Given the description of an element on the screen output the (x, y) to click on. 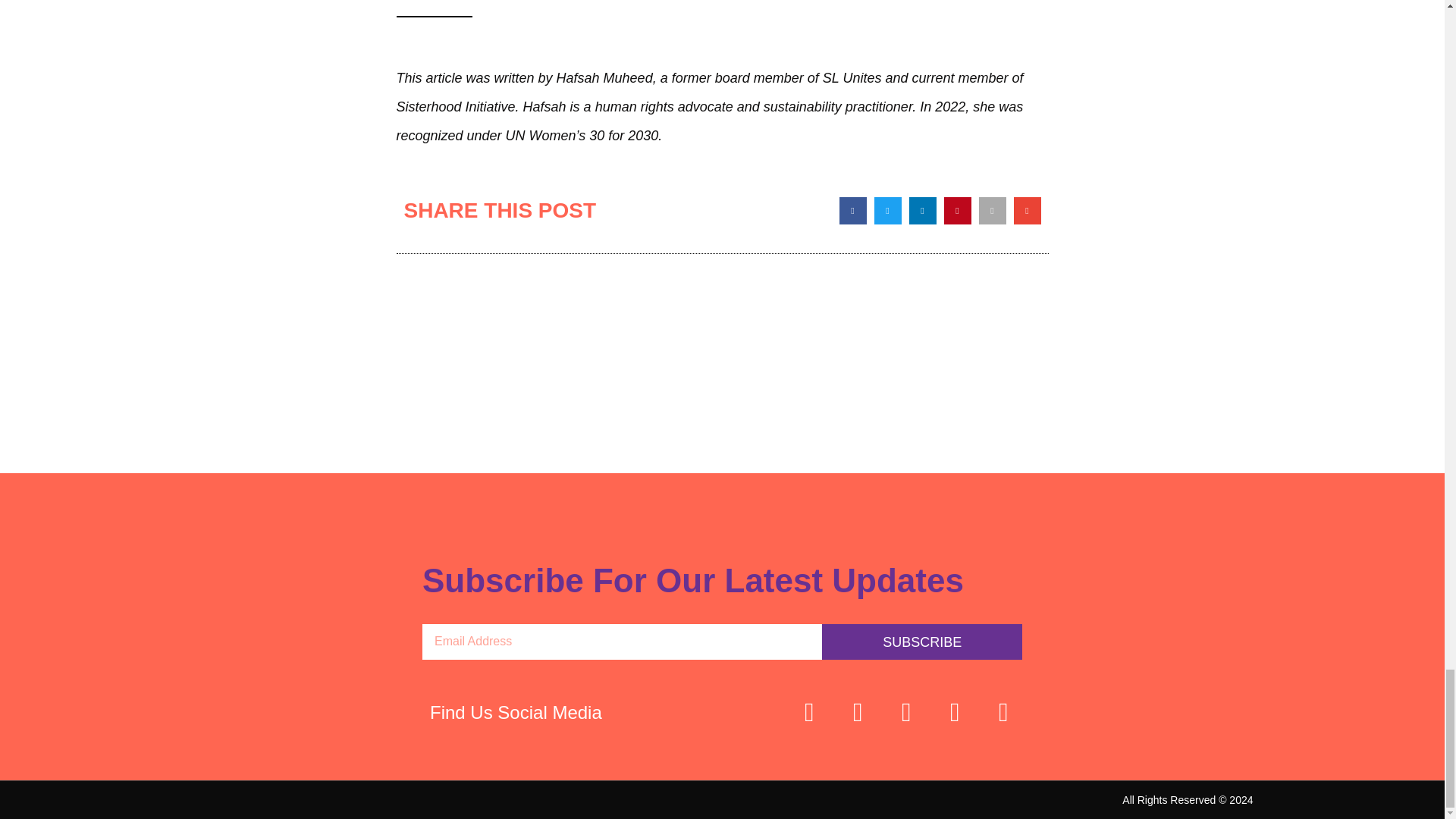
SUBSCRIBE (922, 642)
